Given the description of an element on the screen output the (x, y) to click on. 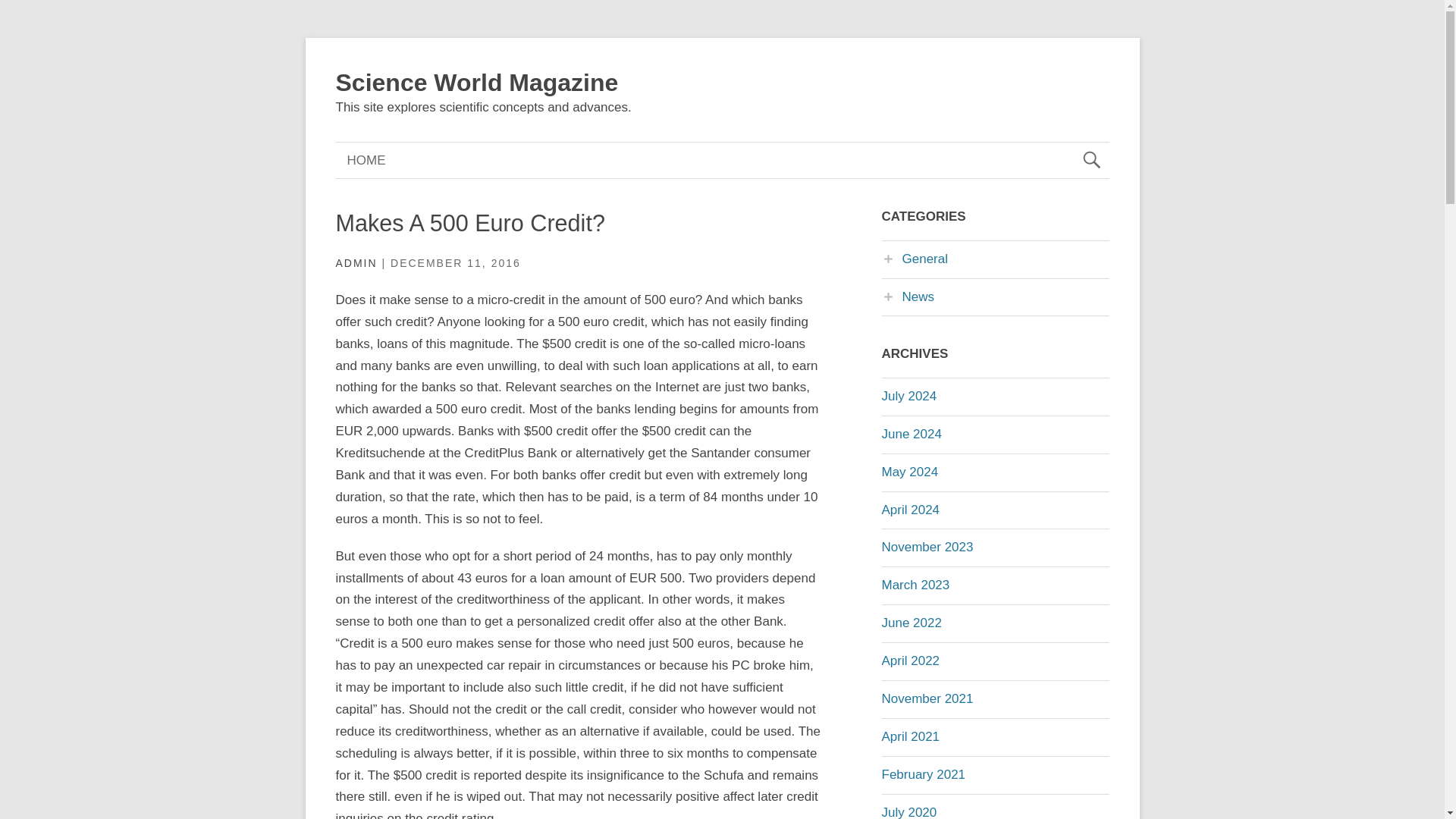
Science World Magazine (475, 82)
November 2023 (926, 546)
March 2023 (914, 585)
May 2024 (908, 472)
HOME (365, 160)
April 2022 (909, 660)
Posts by admin (355, 263)
February 2021 (922, 774)
April 2021 (909, 736)
ADMIN (355, 263)
News (907, 297)
July 2024 (908, 396)
June 2024 (910, 433)
June 2022 (910, 622)
July 2020 (908, 812)
